Given the description of an element on the screen output the (x, y) to click on. 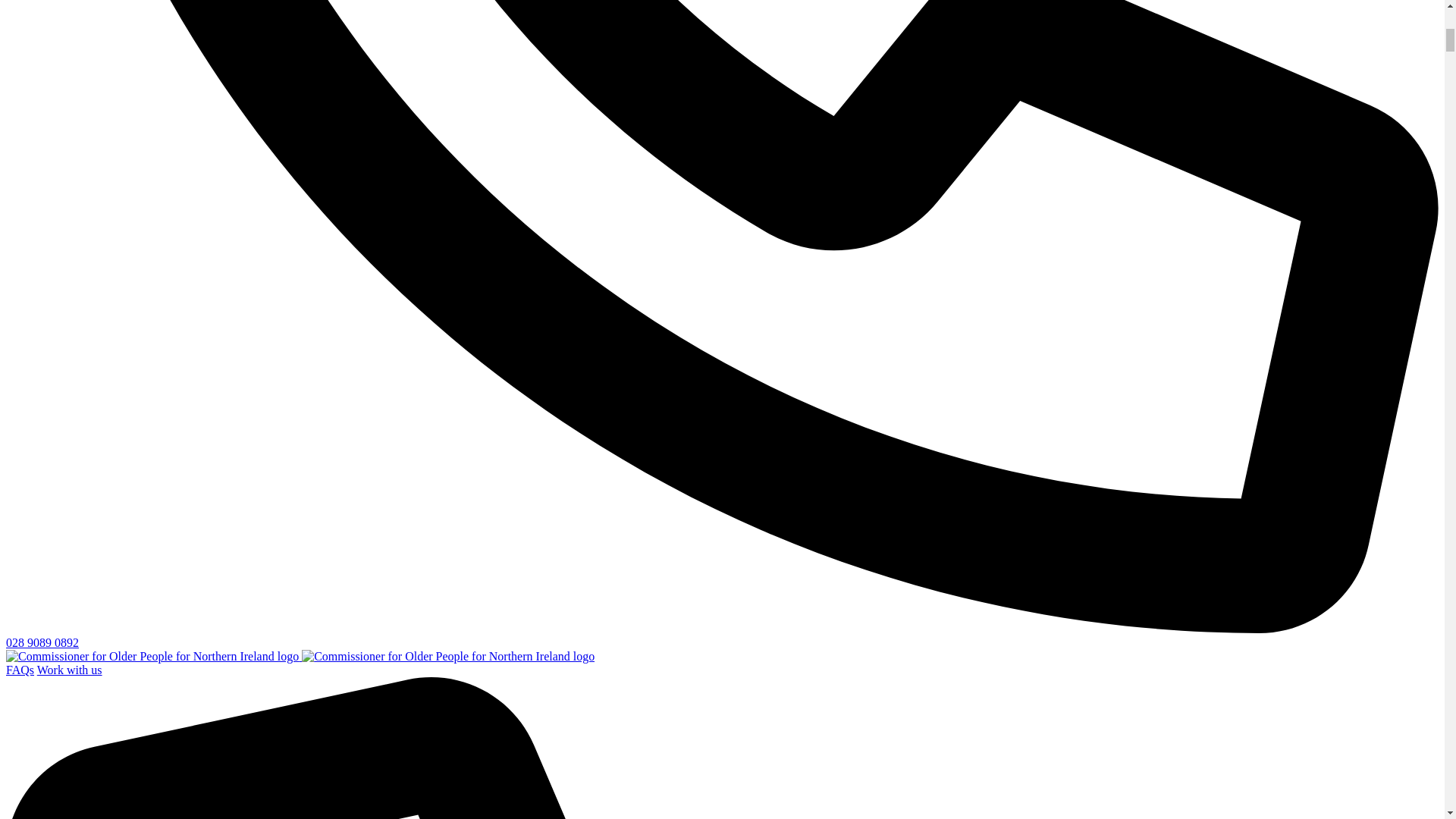
FAQs (19, 669)
Work with us (69, 669)
